Given the description of an element on the screen output the (x, y) to click on. 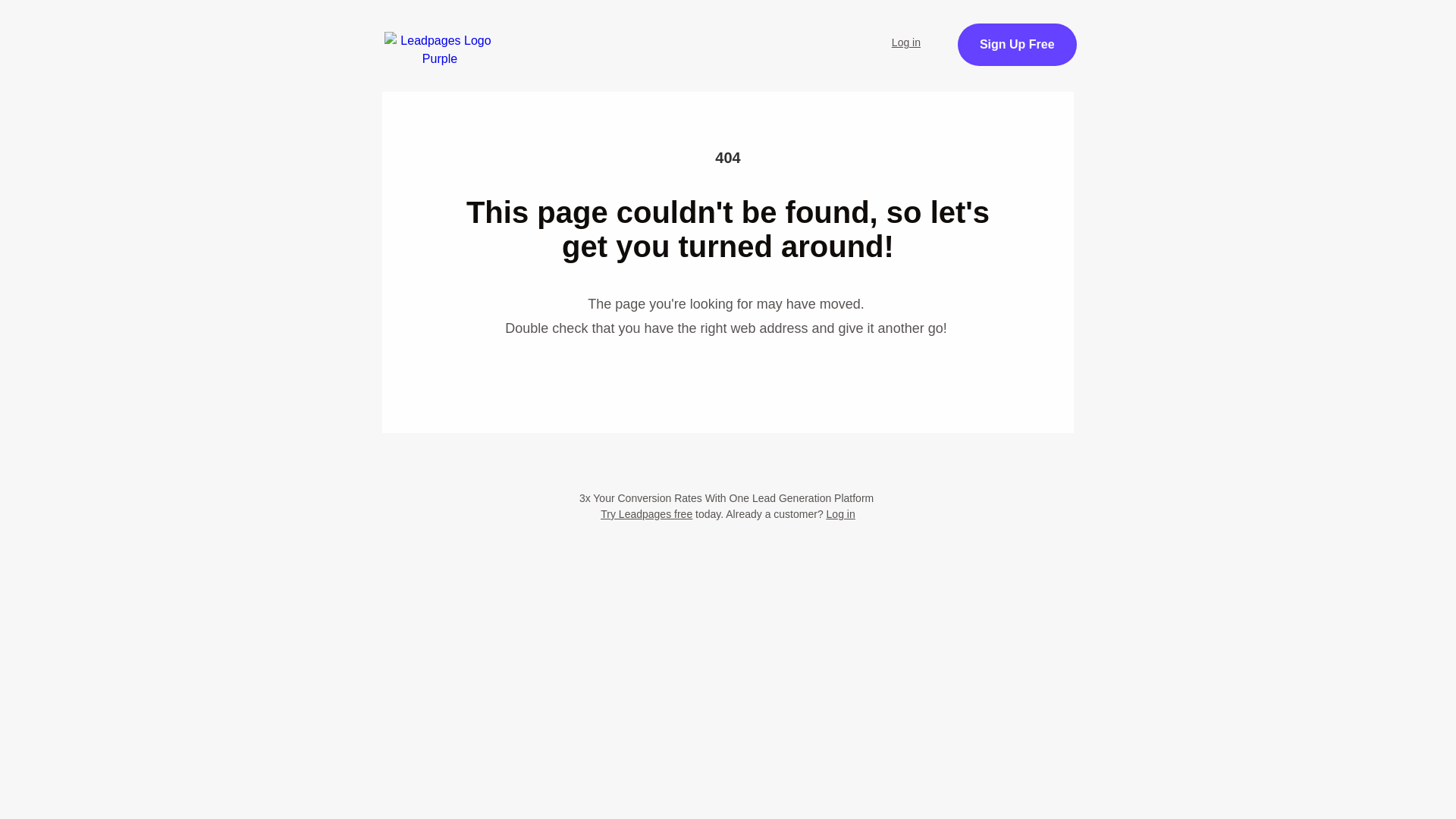
Get Free Prophecy (1070, 53)
Get Free Book From The Ministry (727, 150)
Start Spiritual Gifts Test (627, 33)
Our Verse of the Day (791, 33)
Give To The Ministry (529, 74)
HOME (501, 33)
